Given the description of an element on the screen output the (x, y) to click on. 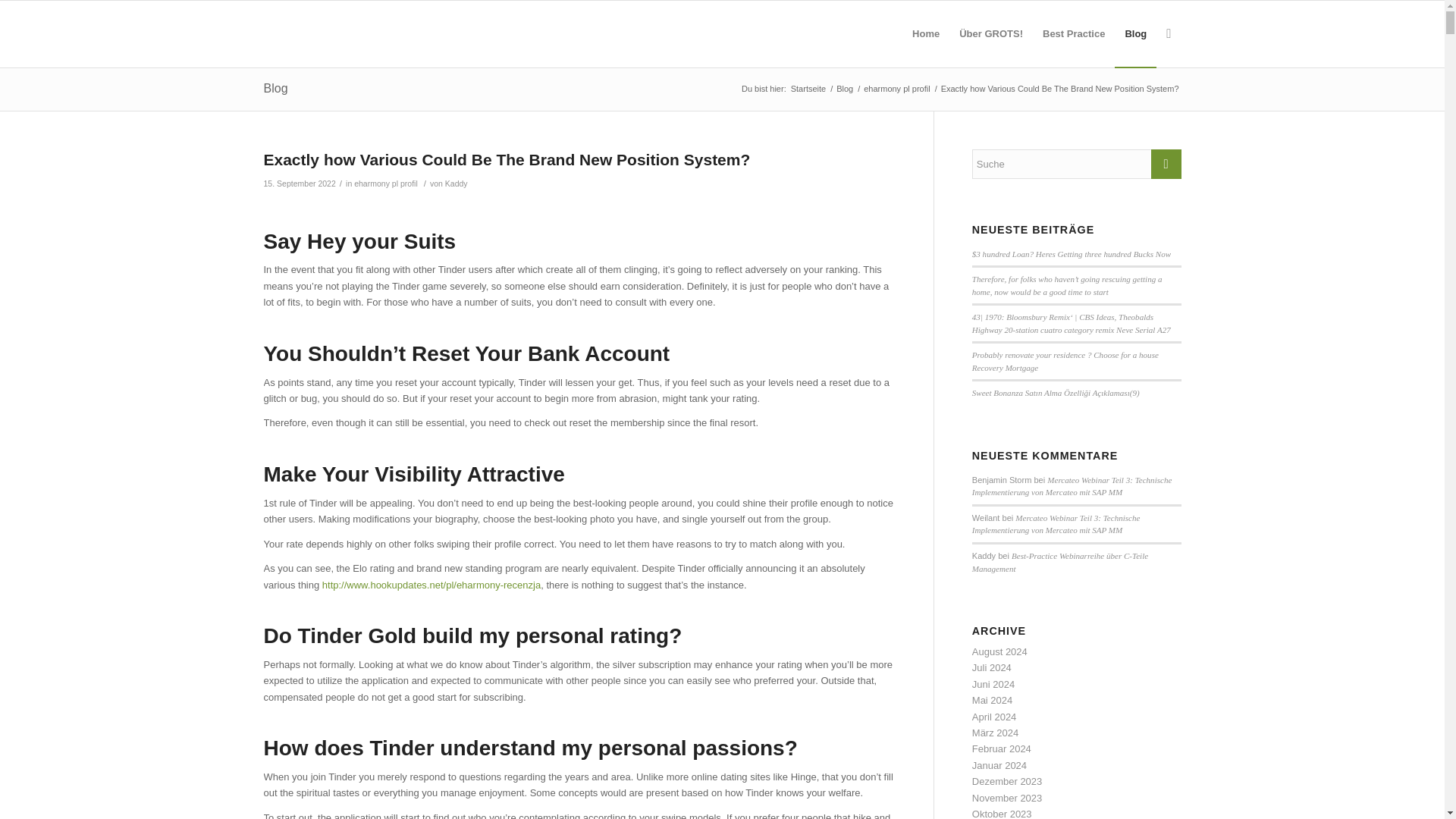
Startseite (808, 89)
Permanenter Link zu: Blog (275, 88)
Februar 2024 (1001, 748)
Get Rid Of The Shit! (808, 89)
Juni 2024 (993, 684)
eharmony pl profil (385, 183)
Kaddy (456, 183)
August 2024 (999, 651)
Juli 2024 (991, 667)
Blog (845, 89)
